Given the description of an element on the screen output the (x, y) to click on. 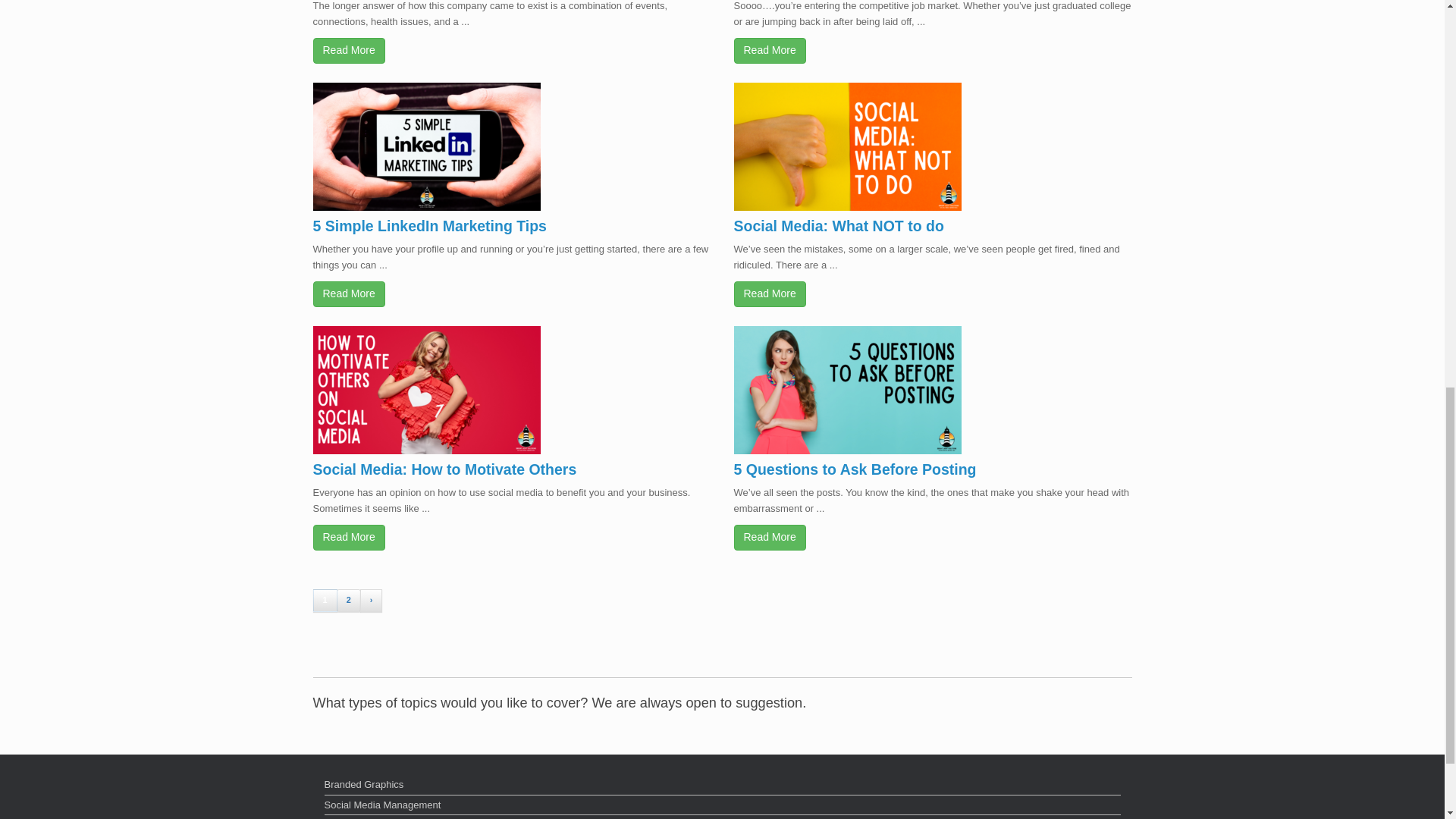
5 Questions to Ask Before Posting (854, 469)
5 Simple LinkedIn Marketing Tips (429, 225)
Read More (348, 294)
1 (324, 599)
2 (348, 599)
Read More (348, 537)
Go to page 2 (348, 599)
Read More (348, 50)
Read More (769, 294)
Branded Graphics (722, 786)
Go to next page (370, 599)
Social Media Management (722, 806)
Current page is 1 (324, 599)
Read More (769, 537)
Social Media: How to Motivate Others (444, 469)
